Given the description of an element on the screen output the (x, y) to click on. 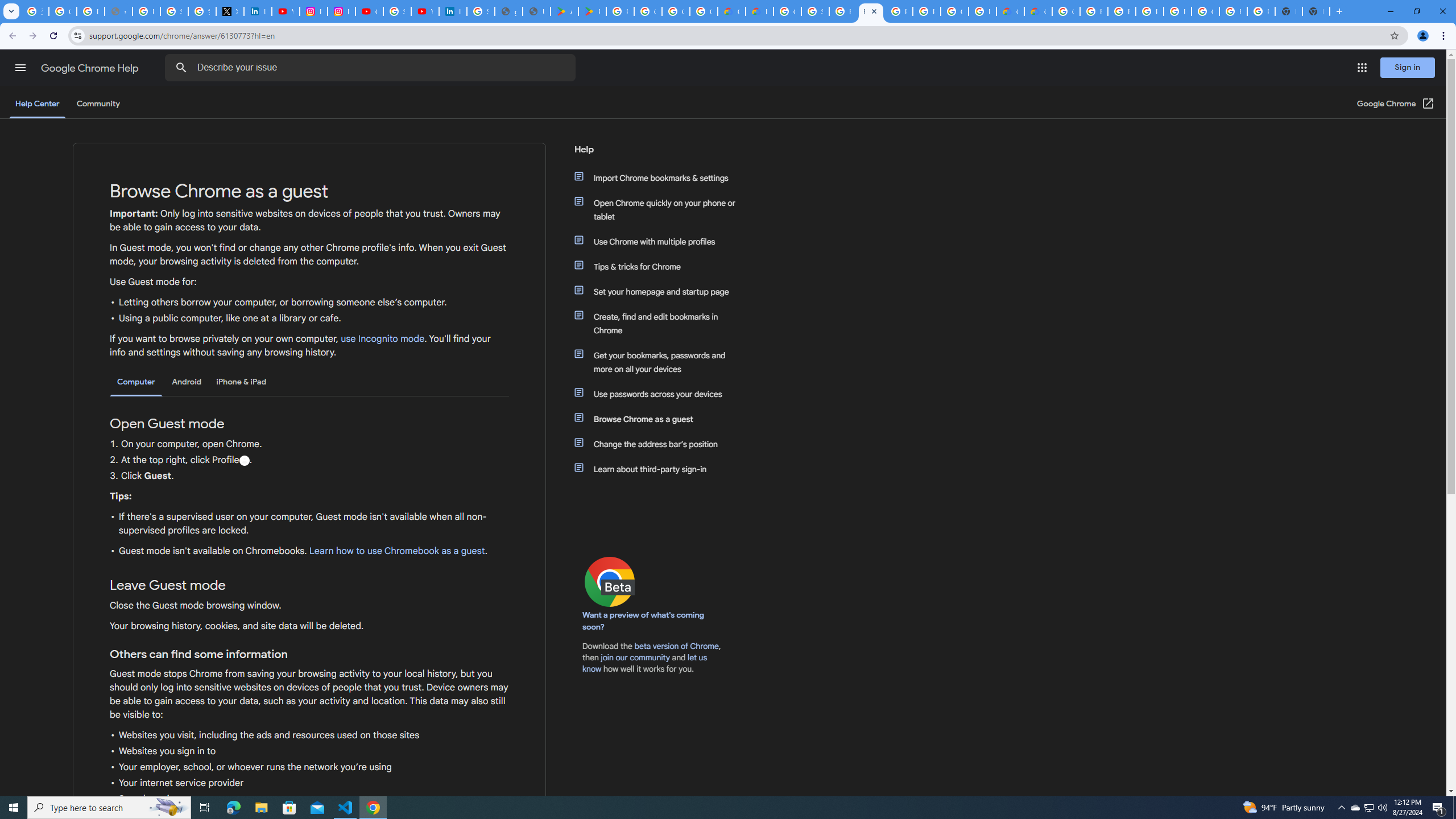
Browse Chrome as a guest (661, 419)
Learn how to use Chromebook as a guest (396, 550)
Computer (136, 382)
Get your bookmarks, passwords and more on all your devices (661, 362)
Sign in - Google Accounts (815, 11)
Android (186, 381)
Learn about third-party sign-in (661, 469)
use Incognito mode (382, 338)
